Given the description of an element on the screen output the (x, y) to click on. 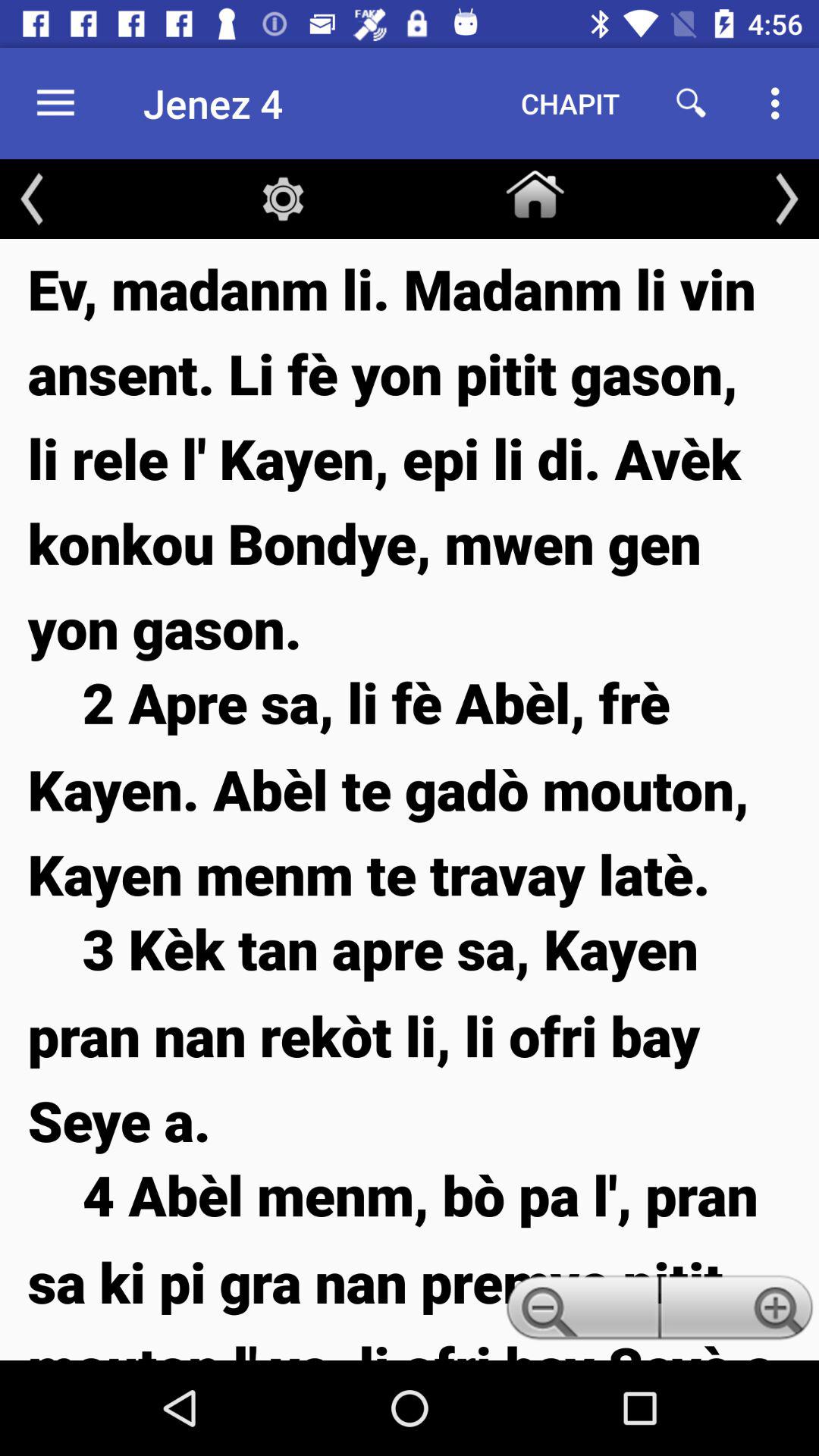
tap the icon next to the jenez 4 icon (55, 103)
